Given the description of an element on the screen output the (x, y) to click on. 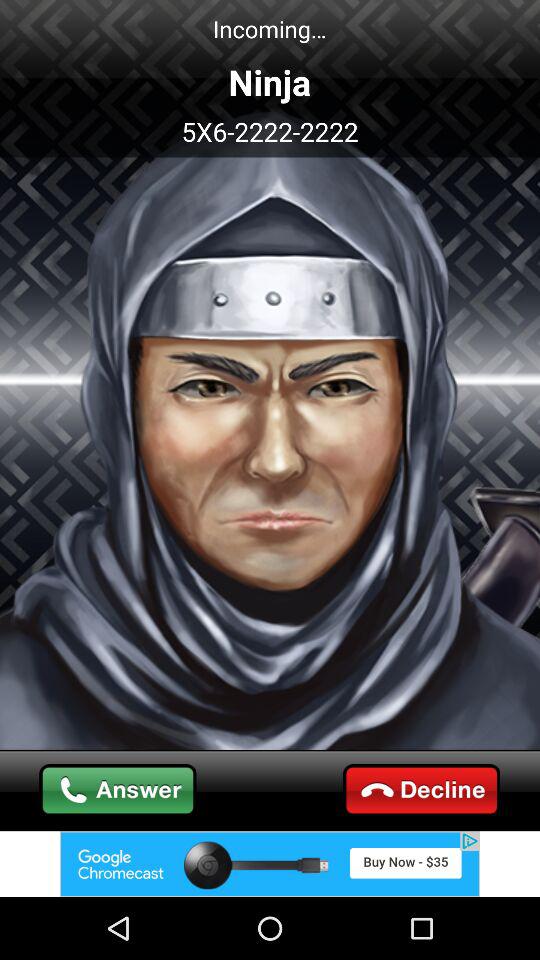
visit advertised website (270, 864)
